Given the description of an element on the screen output the (x, y) to click on. 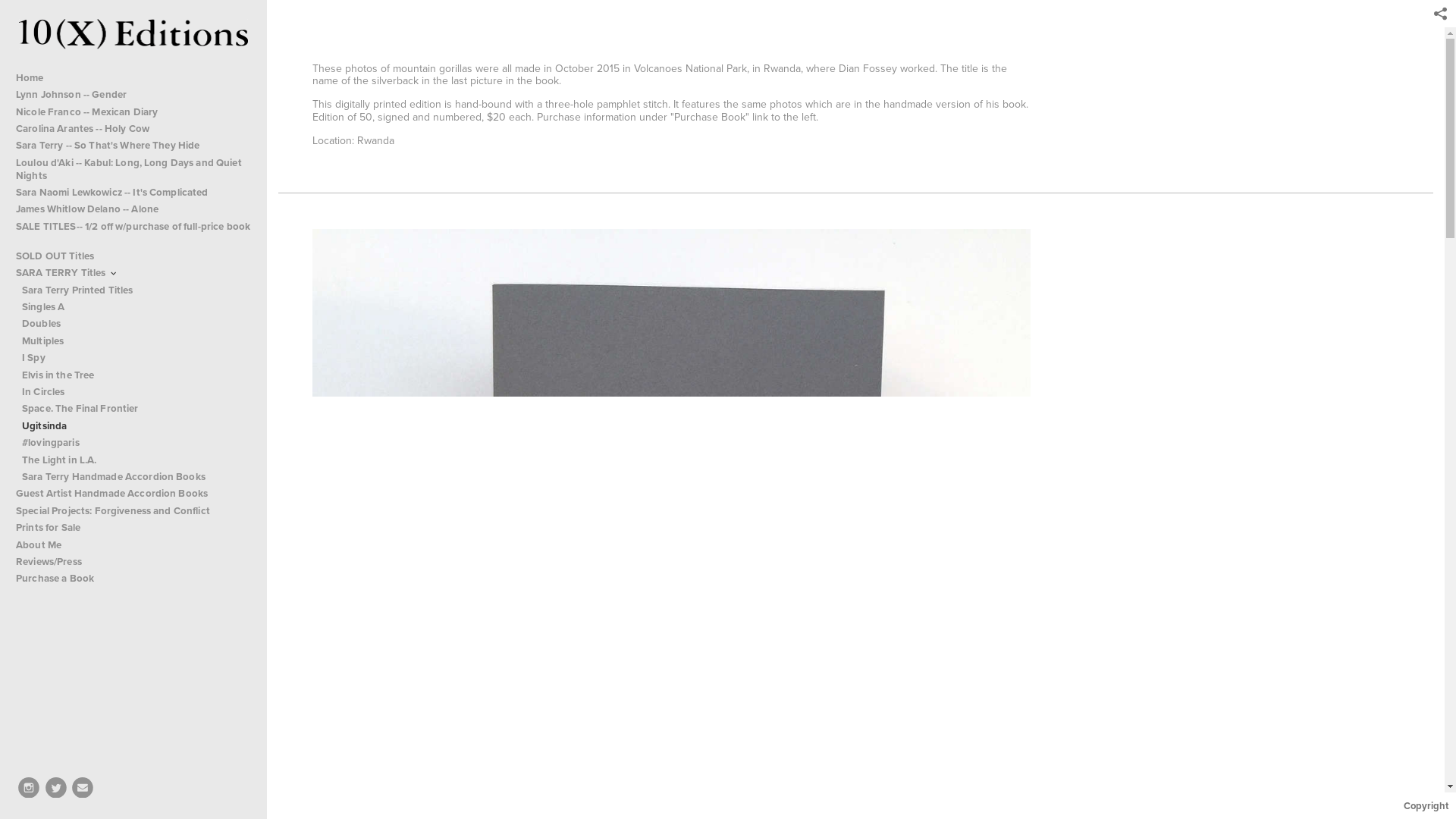
Sara Naomi Lewkowicz -- It's Complicated Element type: text (133, 192)
Reviews/Press Element type: text (133, 561)
Singles A Element type: text (136, 306)
Multiples Element type: text (136, 340)
SALE TITLES-- 1/2 off w/purchase of full-price book Element type: text (133, 232)
James Whitlow Delano -- Alone Element type: text (133, 209)
Lynn Johnson -- Gender Element type: text (133, 94)
Carolina Arantes -- Holy Cow Element type: text (133, 128)
Doubles Element type: text (136, 324)
About Me Element type: text (133, 544)
#lovingparis Element type: text (136, 442)
Email Element type: hover (82, 787)
I Spy Element type: text (136, 357)
SARA TERRY Titles Element type: text (133, 273)
Sara Terry Printed Titles Element type: text (136, 290)
Special Projects: Forgiveness and Conflict Element type: text (133, 510)
Elvis in the Tree Element type: text (136, 375)
Ugitsinda Element type: text (136, 425)
Purchase a Book Element type: text (133, 579)
Instagram Element type: hover (28, 787)
The Light in L.A. Element type: text (136, 459)
Space. The Final Frontier Element type: text (136, 409)
Sara Terry -- So That's Where They Hide Element type: text (133, 146)
Prints for Sale Element type: text (133, 527)
Sara Terry Handmade Accordion Books Element type: text (136, 476)
SOLD OUT Titles Element type: text (133, 255)
In Circles Element type: text (136, 391)
Loulou d'Aki -- Kabul: Long, Long Days and Quiet Nights Element type: text (133, 169)
Nicole Franco -- Mexican Diary Element type: text (133, 111)
Guest Artist Handmade Accordion Books Element type: text (133, 494)
Home Element type: text (133, 77)
Twitter Element type: hover (55, 787)
